Given the description of an element on the screen output the (x, y) to click on. 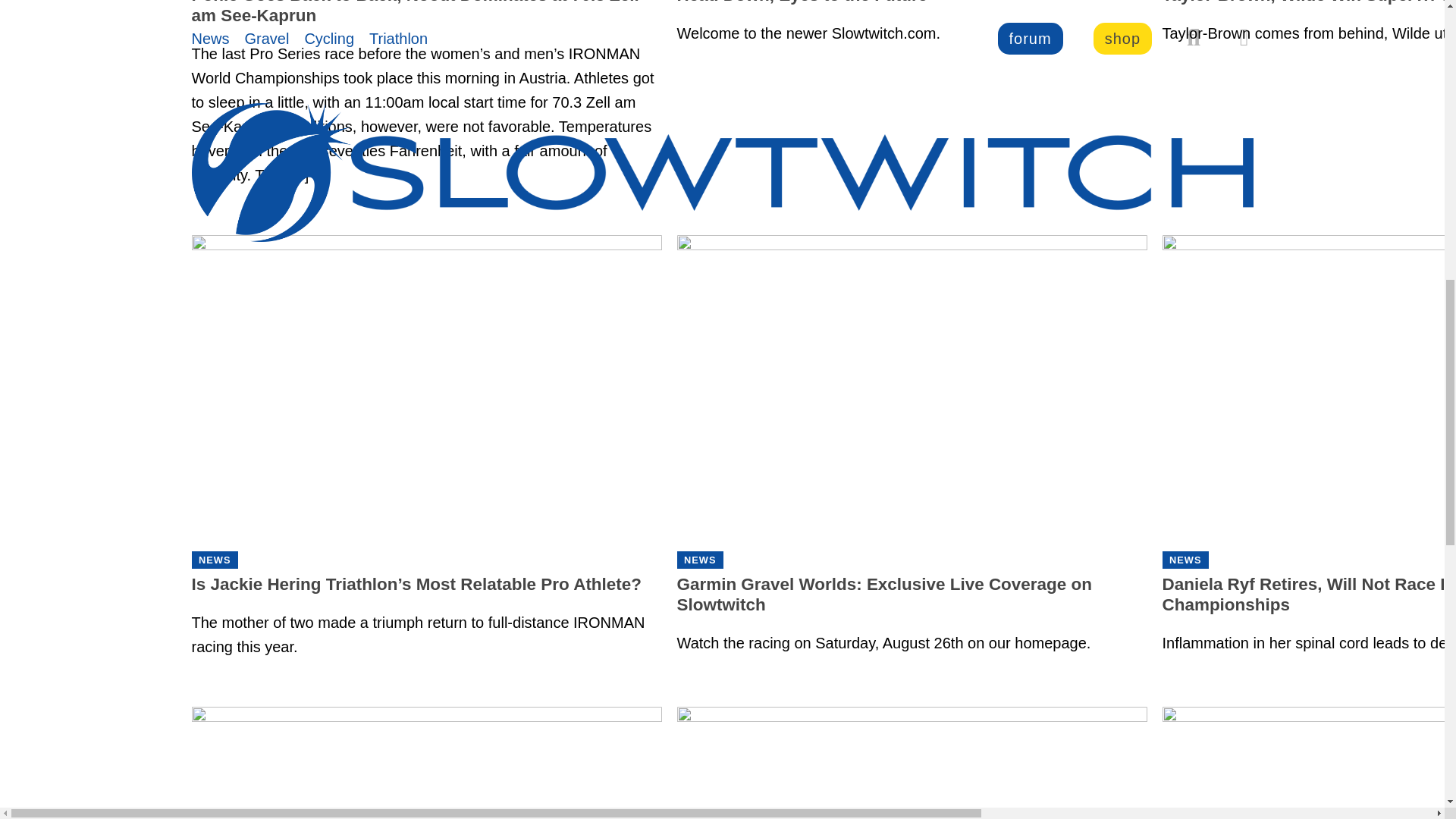
Head Down, Eyes to the Future (912, 15)
Taylor-Brown, Wilde Win SuperTri Chicago (1308, 15)
NEWS (214, 559)
